Given the description of an element on the screen output the (x, y) to click on. 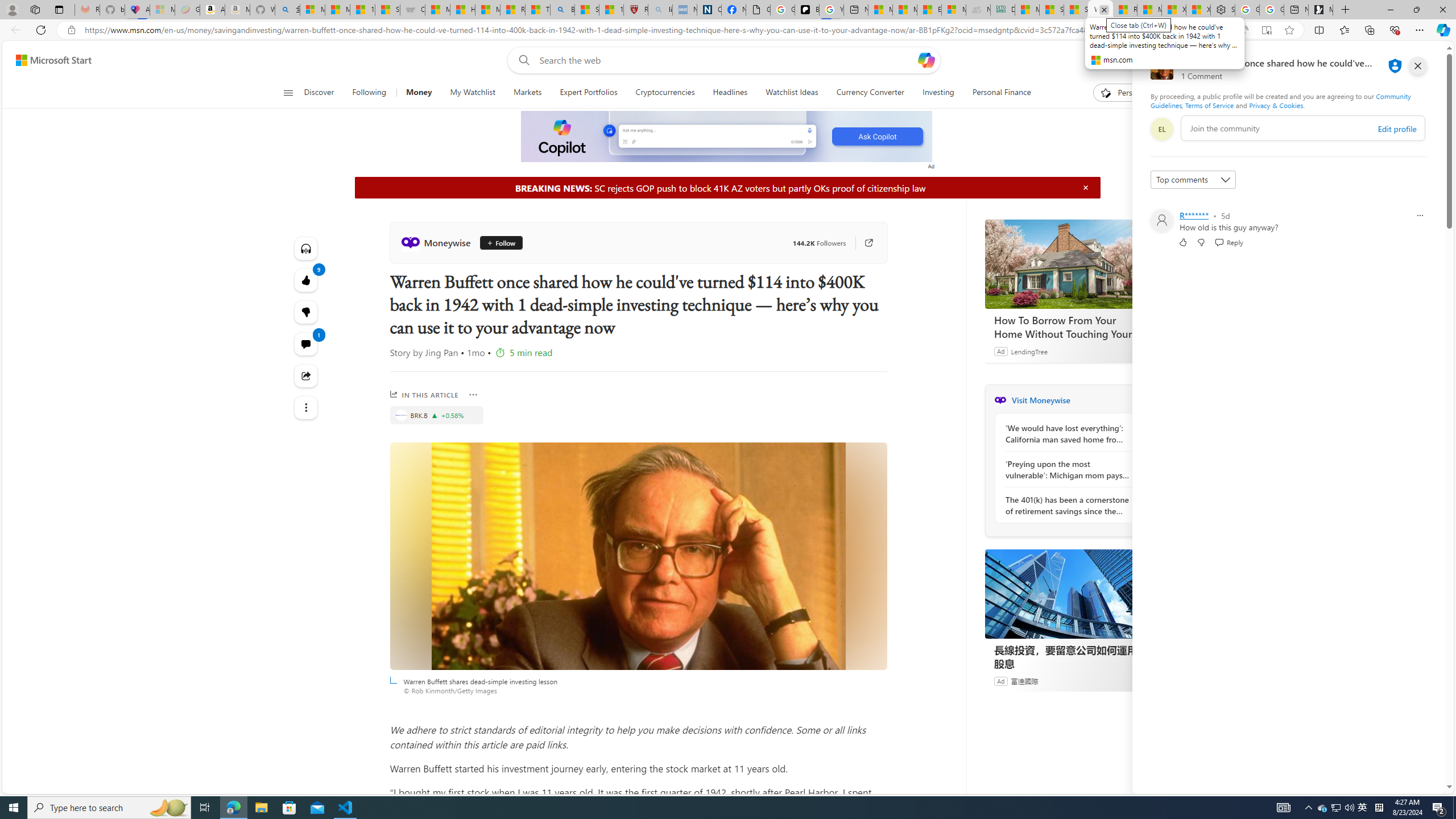
Personal Finance (1001, 92)
Be Smart | creating Science videos | Patreon (807, 9)
Entertainment - MSN (929, 9)
Expert Portfolios (588, 92)
Listen to this article (305, 248)
Currency Converter (869, 92)
More Options (473, 394)
comment-box (1302, 127)
